Given the description of an element on the screen output the (x, y) to click on. 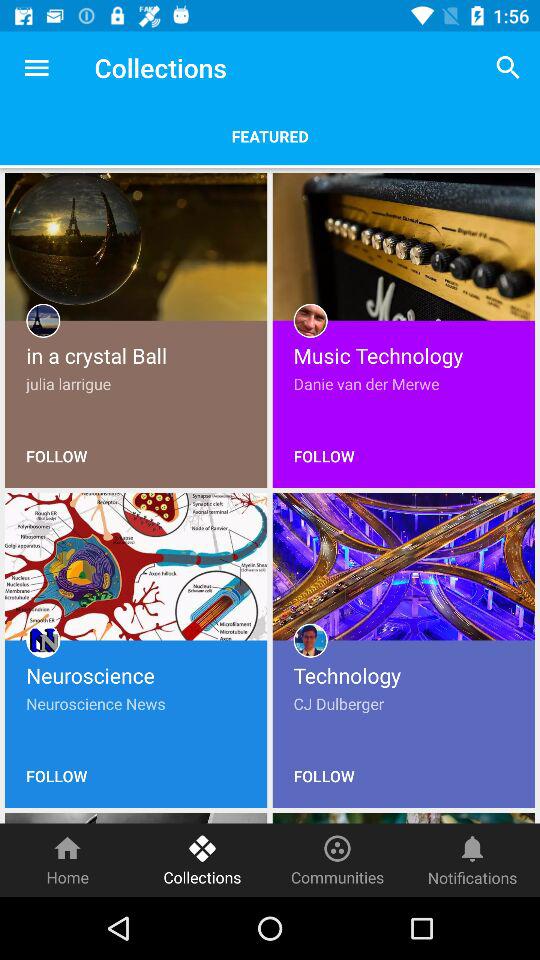
press the featured icon (270, 135)
